Given the description of an element on the screen output the (x, y) to click on. 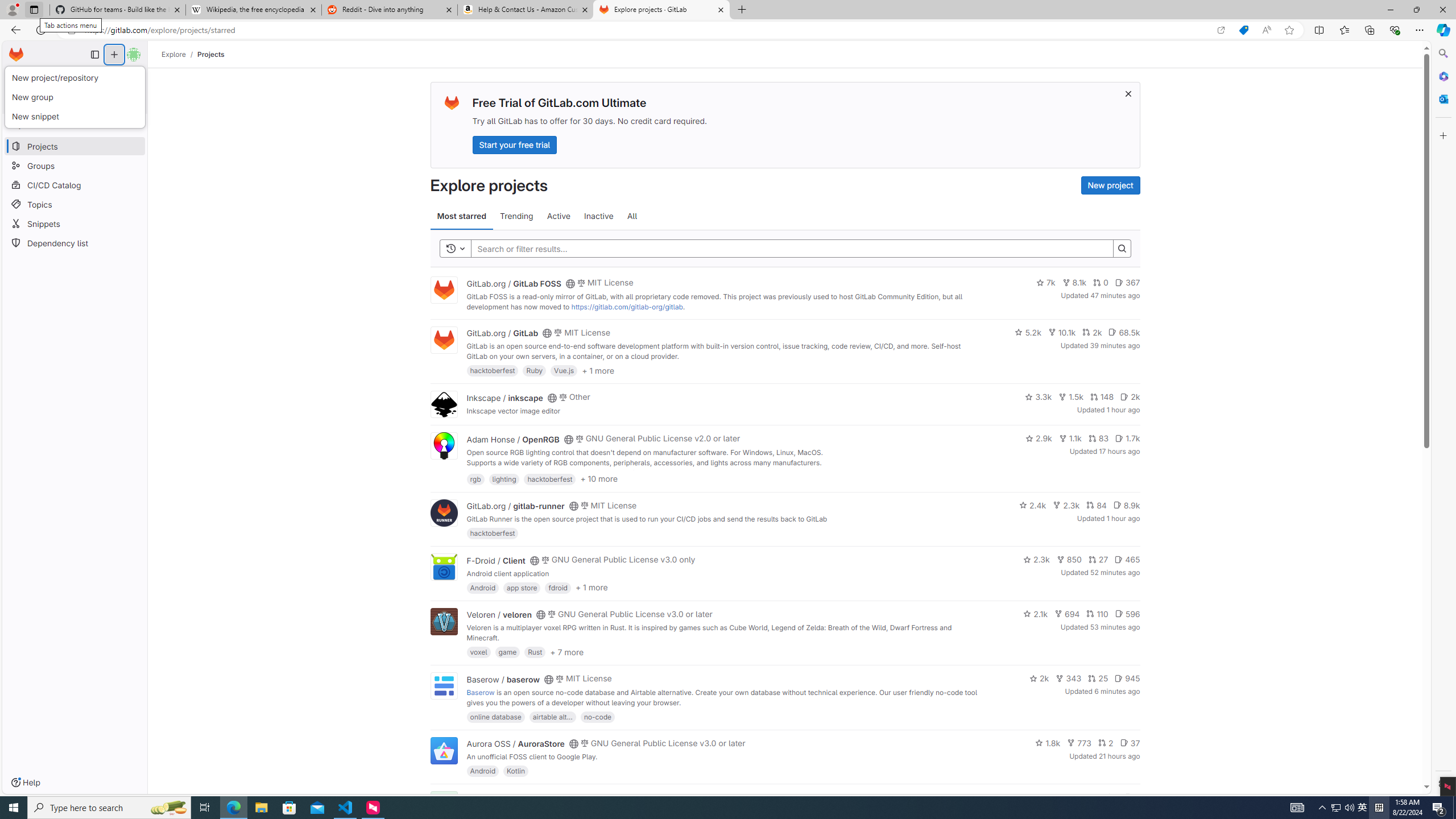
2.4k (1032, 504)
27 (1097, 559)
New snippet (74, 116)
Class: project (443, 750)
8.1k (1073, 282)
New group (74, 97)
Assigned issues 0 (28, 76)
CI/CD Catalog (74, 185)
Ruby (533, 370)
